Given the description of an element on the screen output the (x, y) to click on. 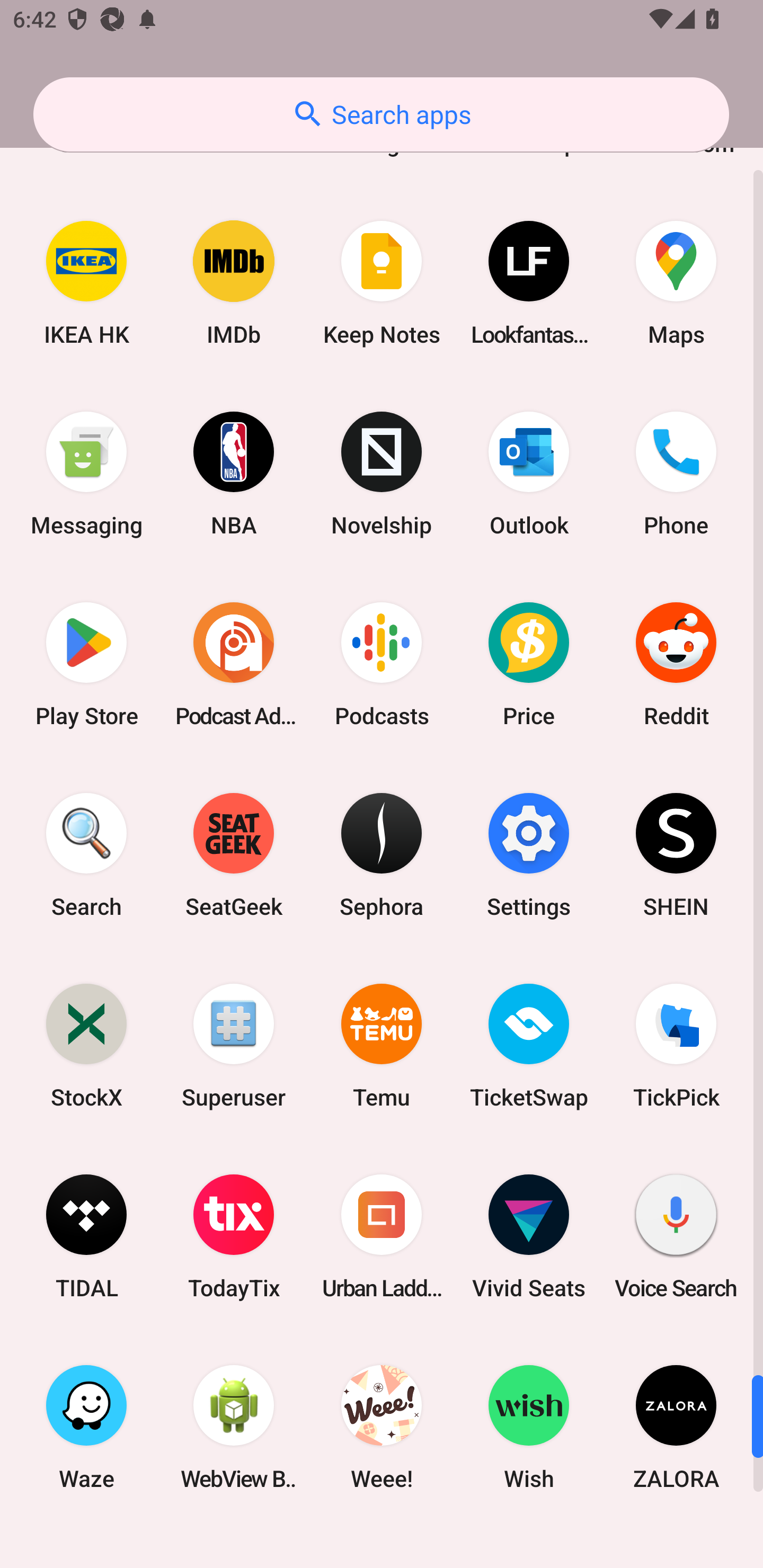
  Search apps (381, 114)
IKEA HK (86, 282)
IMDb (233, 282)
Keep Notes (381, 282)
Lookfantastic (528, 282)
Maps (676, 282)
Messaging (86, 473)
NBA (233, 473)
Novelship (381, 473)
Outlook (528, 473)
Phone (676, 473)
Play Store (86, 663)
Podcast Addict (233, 663)
Podcasts (381, 663)
Price (528, 663)
Reddit (676, 663)
Search (86, 854)
SeatGeek (233, 854)
Sephora (381, 854)
Settings (528, 854)
SHEIN (676, 854)
StockX (86, 1045)
Superuser (233, 1045)
Temu (381, 1045)
TicketSwap (528, 1045)
TickPick (676, 1045)
TIDAL (86, 1236)
TodayTix (233, 1236)
Urban Ladder (381, 1236)
Vivid Seats (528, 1236)
Voice Search (676, 1236)
Waze (86, 1426)
WebView Browser Tester (233, 1426)
Weee! (381, 1426)
Wish (528, 1426)
ZALORA (676, 1426)
